Given the description of an element on the screen output the (x, y) to click on. 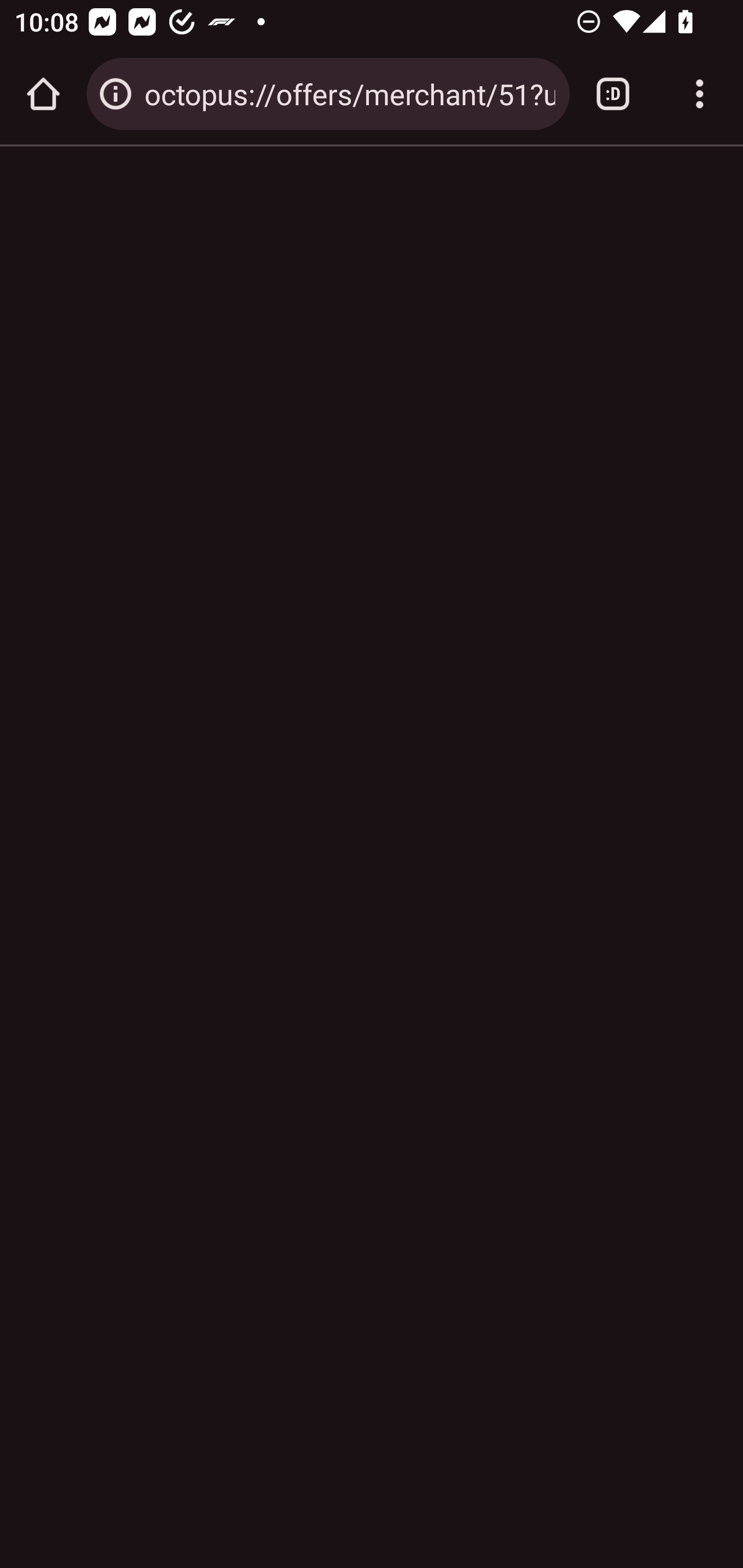
Open the home page (43, 93)
Your connection to this site is not secure (115, 93)
Switch or close tabs (612, 93)
Customize and control Google Chrome (699, 93)
